Given the description of an element on the screen output the (x, y) to click on. 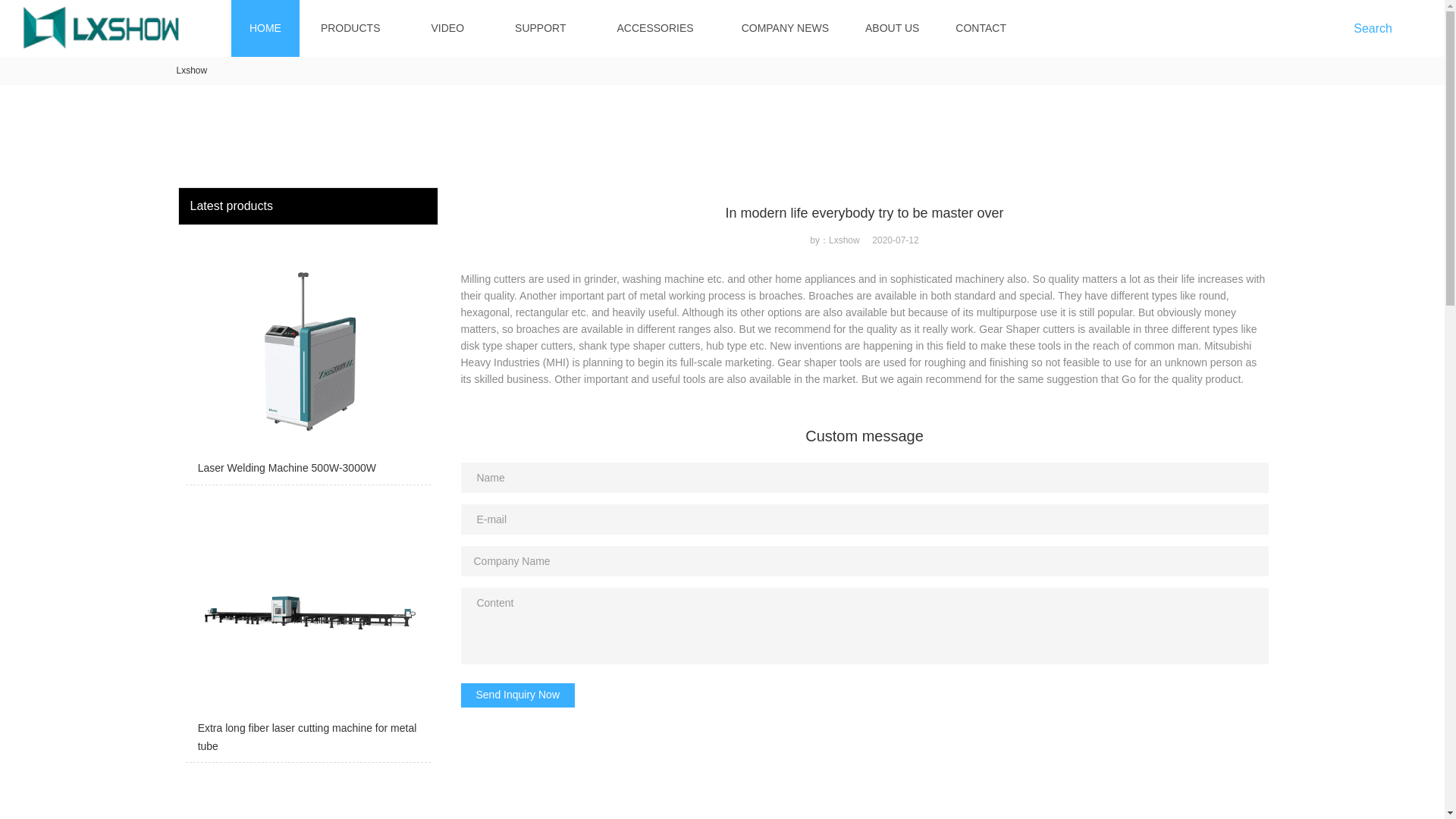
ABOUT US (891, 28)
PRODUCTS (350, 28)
Search   (1375, 28)
ACCESSORIES (655, 28)
HOME (264, 28)
SUPPORT (540, 28)
COMPANY NEWS (784, 28)
CONTACT (980, 28)
VIDEO (447, 28)
